Given the description of an element on the screen output the (x, y) to click on. 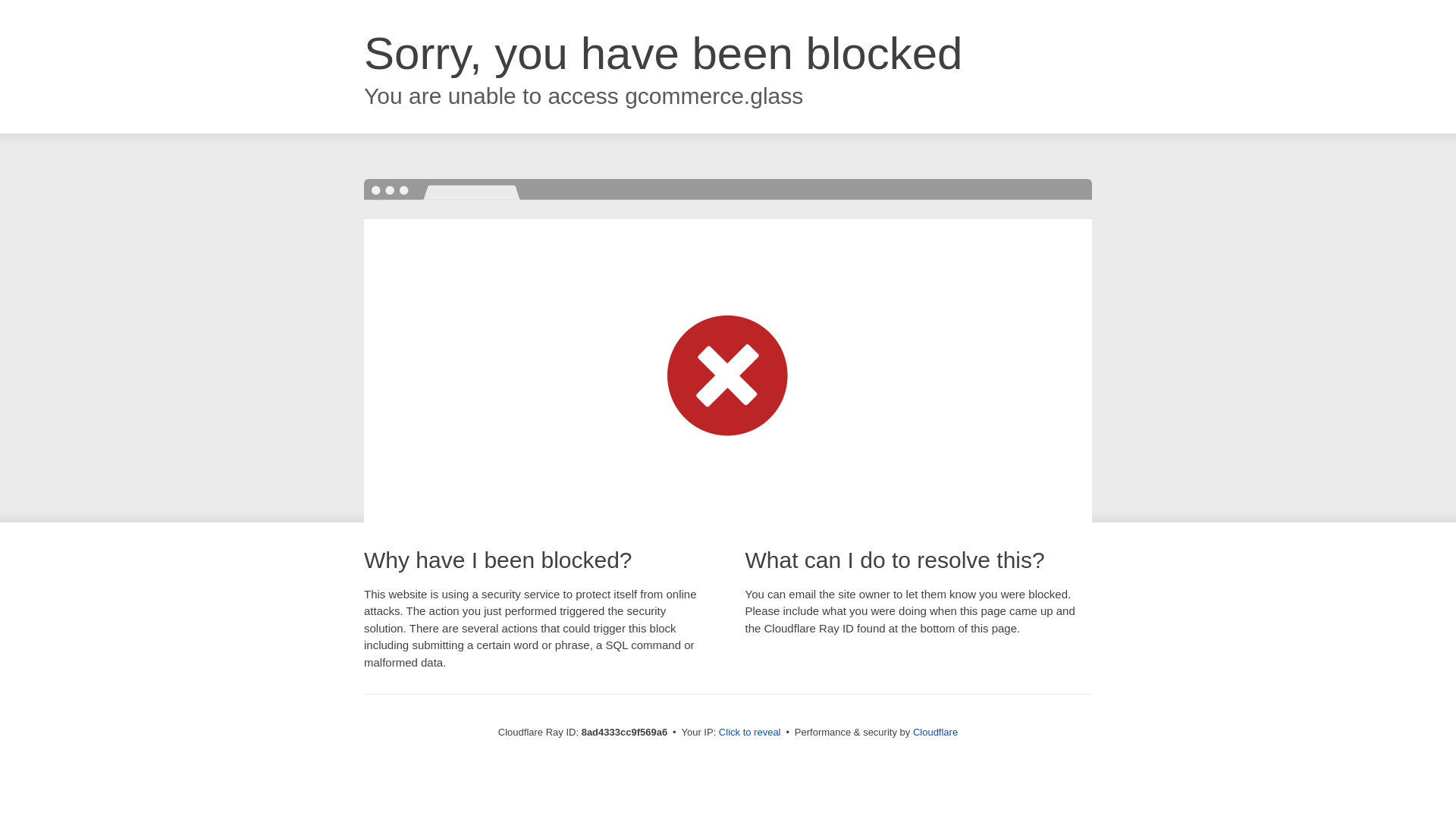
Click to reveal (749, 732)
Cloudflare (935, 731)
